Given the description of an element on the screen output the (x, y) to click on. 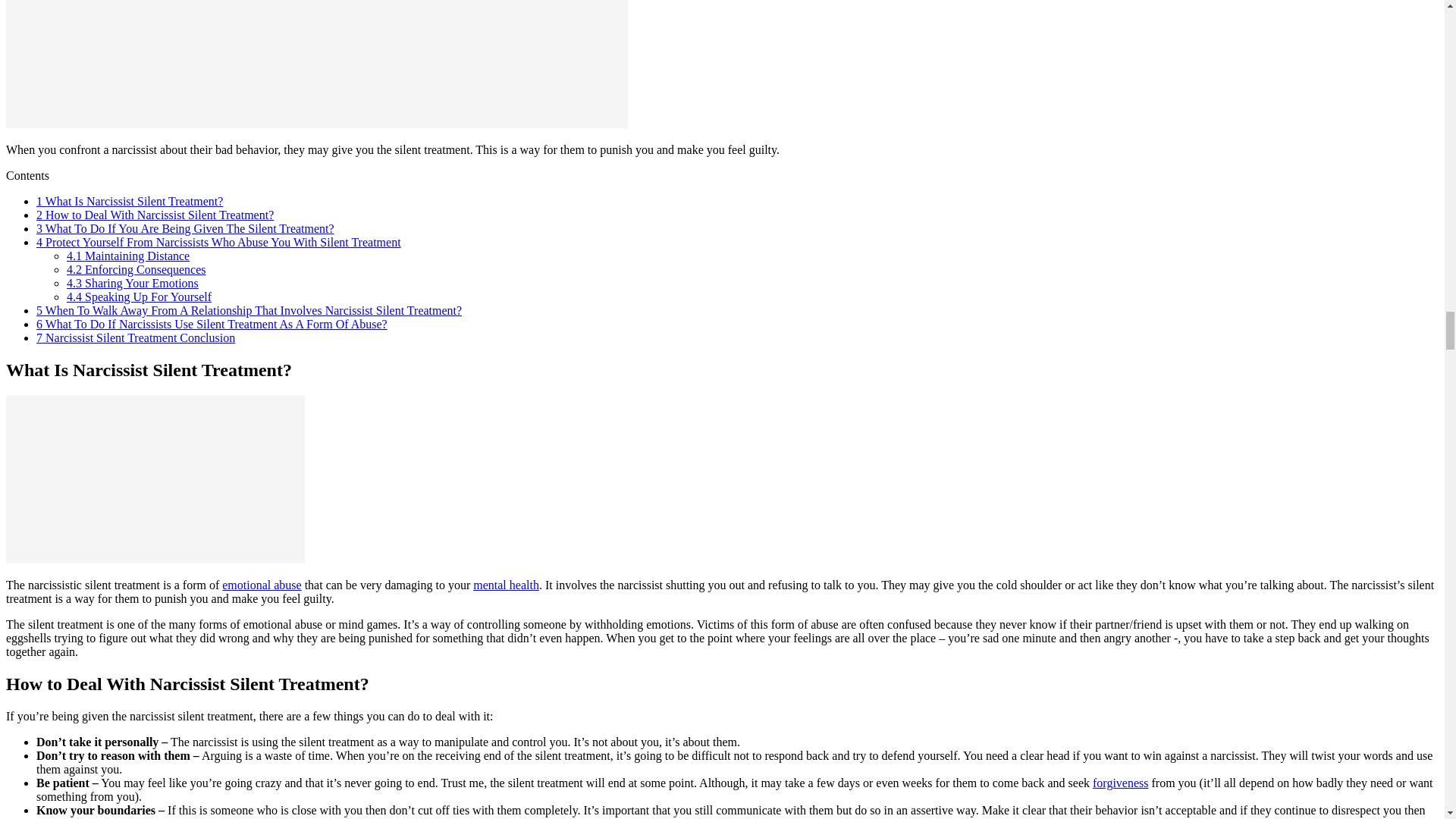
mental health (505, 584)
emotional abuse (261, 584)
forgiveness (1120, 782)
